Given the description of an element on the screen output the (x, y) to click on. 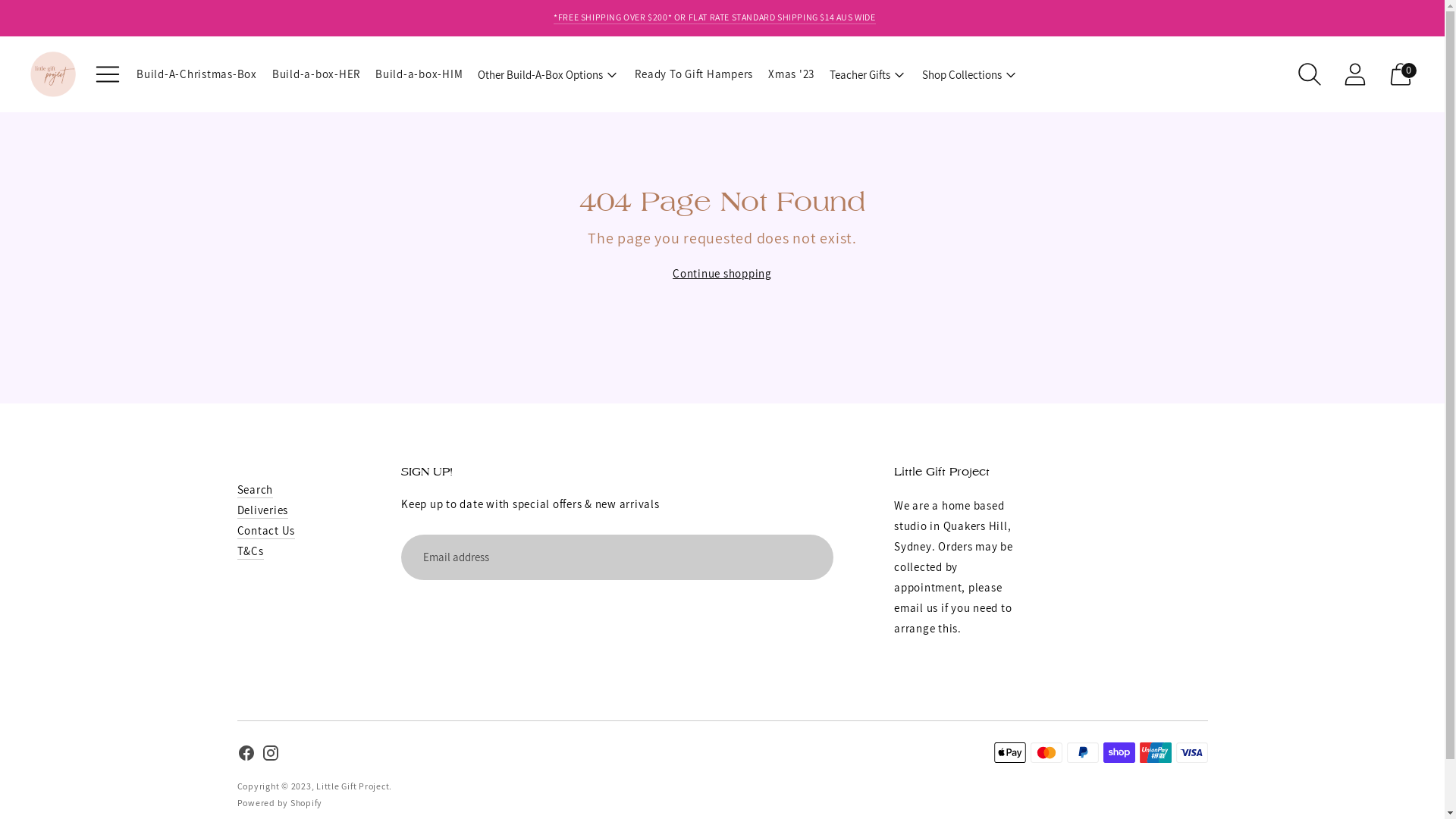
Deliveries Element type: text (262, 509)
Little Gift Project Element type: text (352, 785)
Little Gift Project on Instagram Element type: hover (269, 754)
Continue shopping Element type: text (721, 273)
0 Element type: text (1400, 74)
Contact Us Element type: text (265, 530)
Shop Collections Element type: text (970, 74)
Build-A-Christmas-Box Element type: text (196, 74)
Little Gift Project on Facebook Element type: hover (245, 754)
SIGN UP! Element type: text (639, 472)
Xmas '23 Element type: text (791, 74)
Powered by Shopify Element type: text (279, 802)
T&Cs Element type: text (249, 550)
Other Build-A-Box Options Element type: text (548, 74)
Ready To Gift Hampers Element type: text (693, 74)
Build-a-box-HER Element type: text (316, 74)
Build-a-box-HIM Element type: text (418, 74)
Search Element type: text (254, 489)
Little Gift Project Element type: text (968, 472)
Teacher Gifts Element type: text (867, 74)
